Given the description of an element on the screen output the (x, y) to click on. 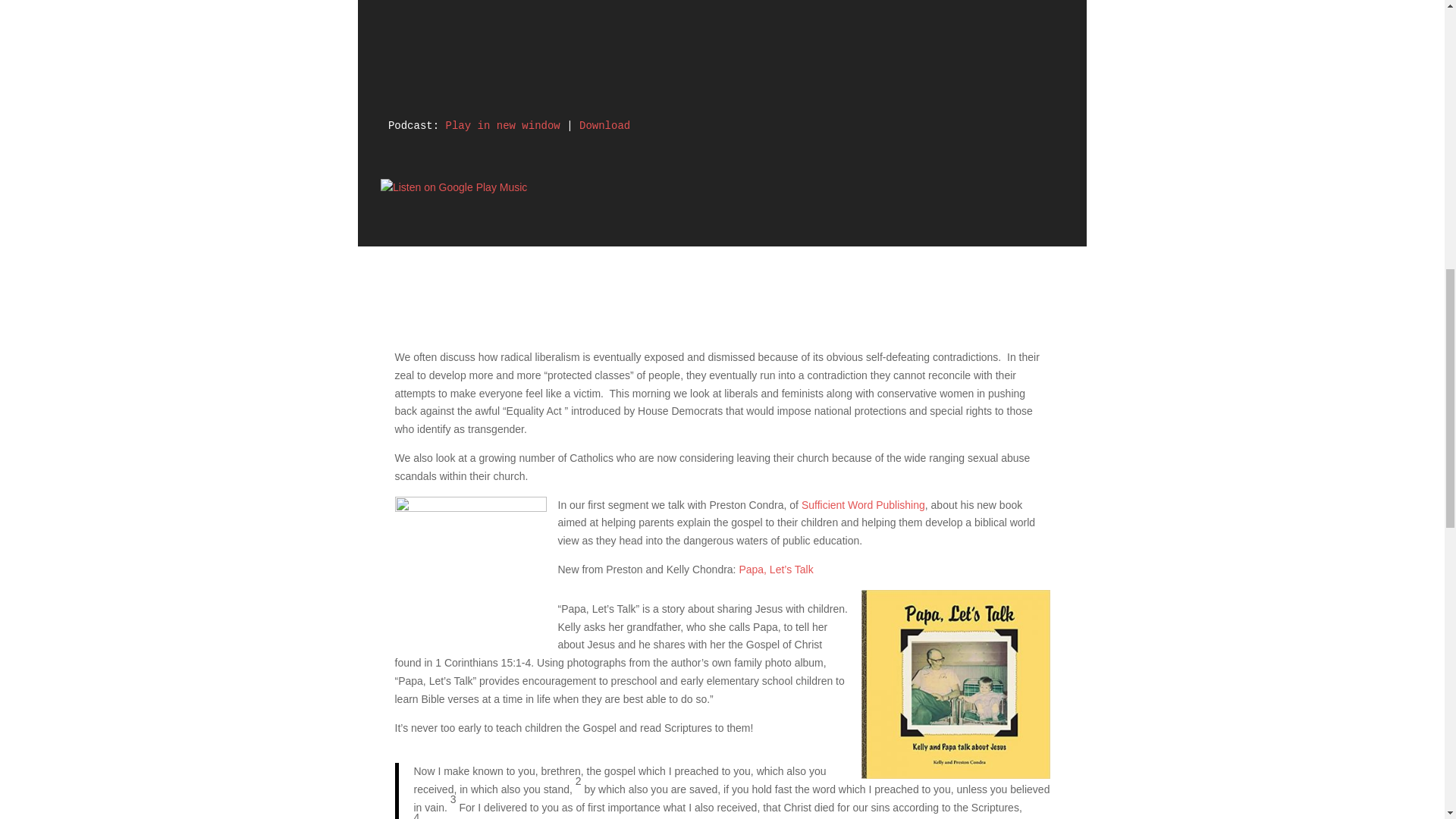
Blubrry Podcast Player (722, 55)
Download (604, 125)
Play in new window (502, 125)
